Given the description of an element on the screen output the (x, y) to click on. 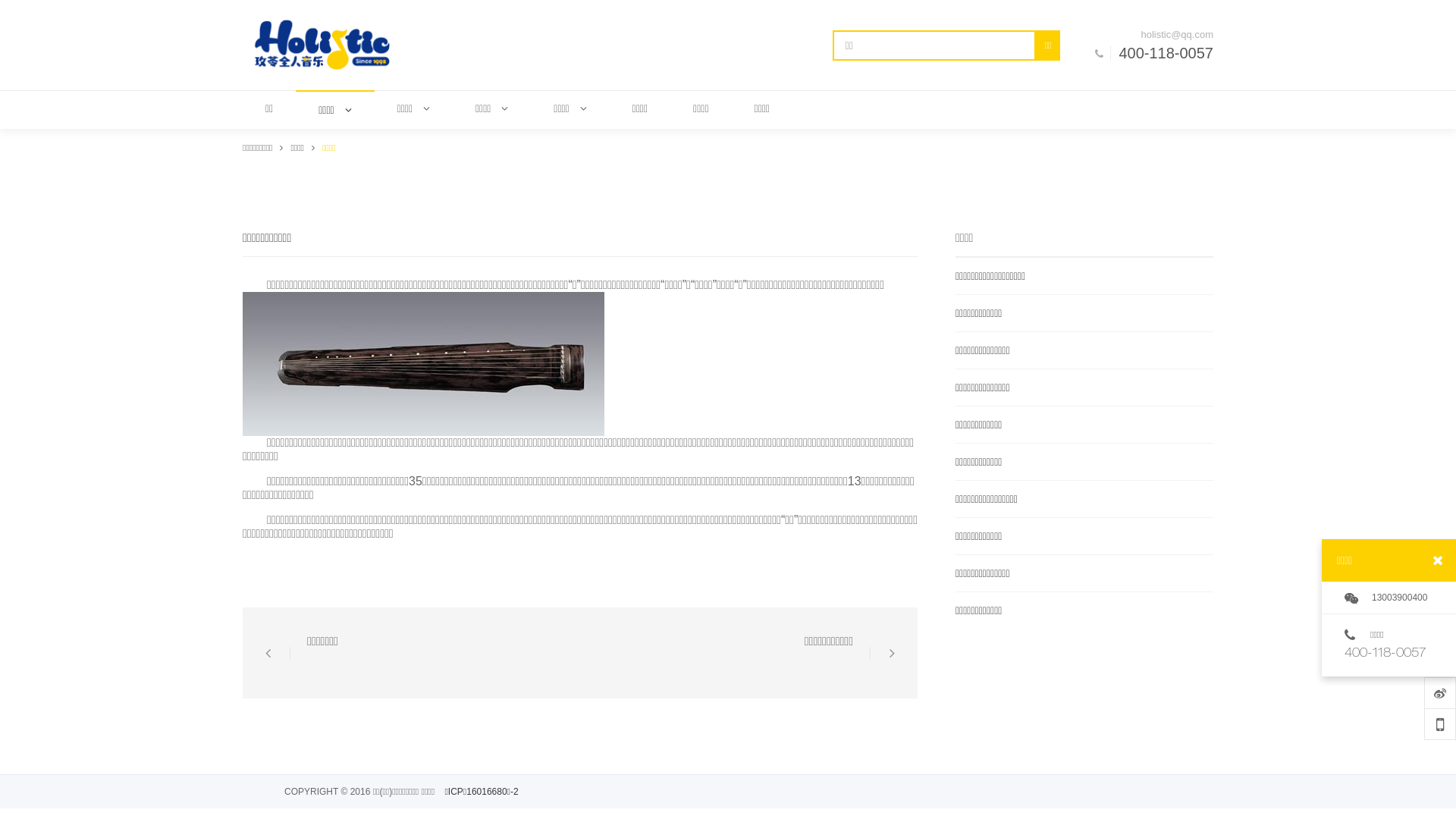
holistic@qq.com Element type: text (1161, 34)
